Given the description of an element on the screen output the (x, y) to click on. 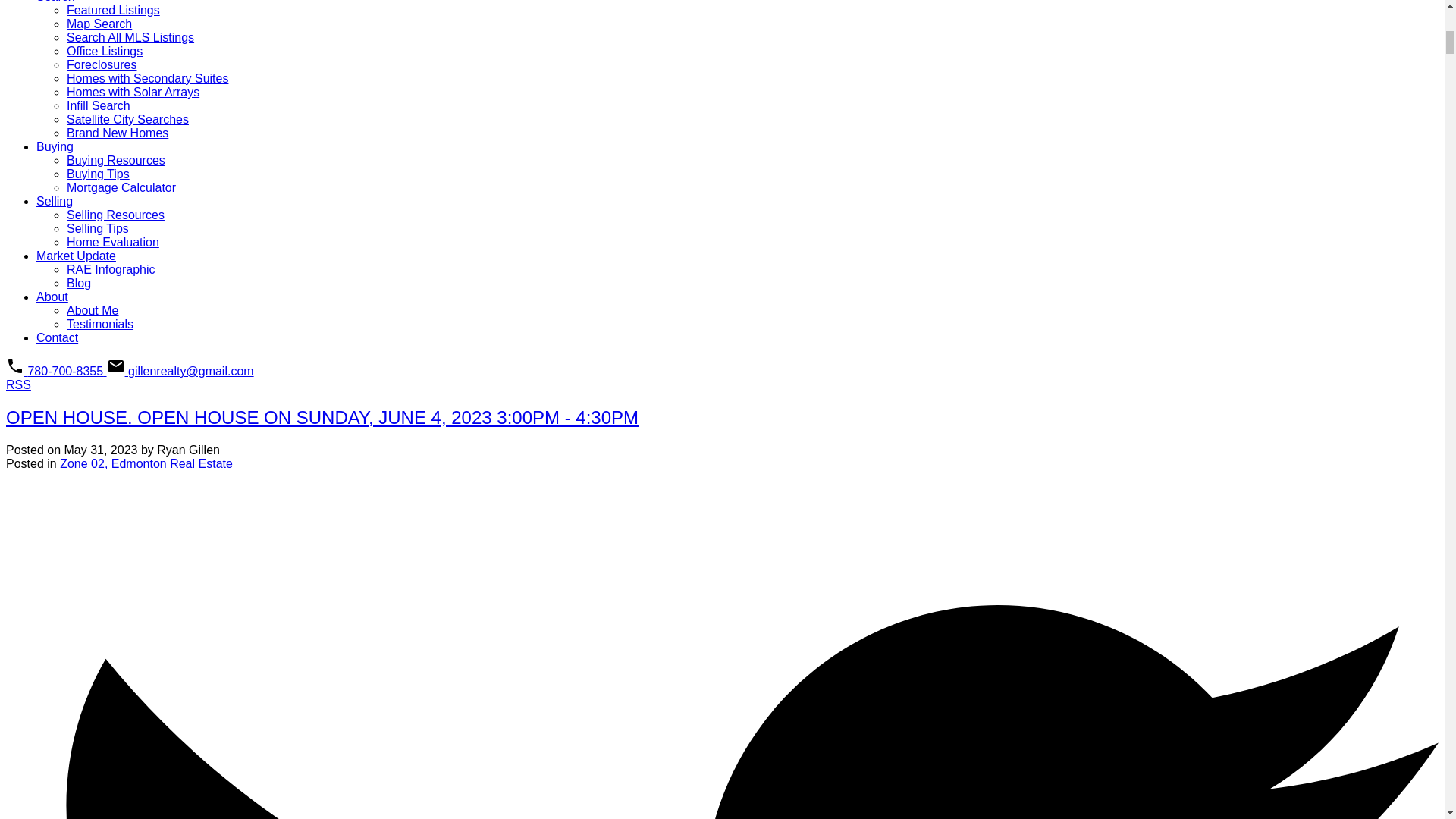
Search (55, 1)
Featured Listings (113, 10)
Foreclosures (101, 64)
Homes with Secondary Suites (147, 78)
Map Search (99, 23)
Office Listings (104, 51)
Search All MLS Listings (129, 37)
